Given the description of an element on the screen output the (x, y) to click on. 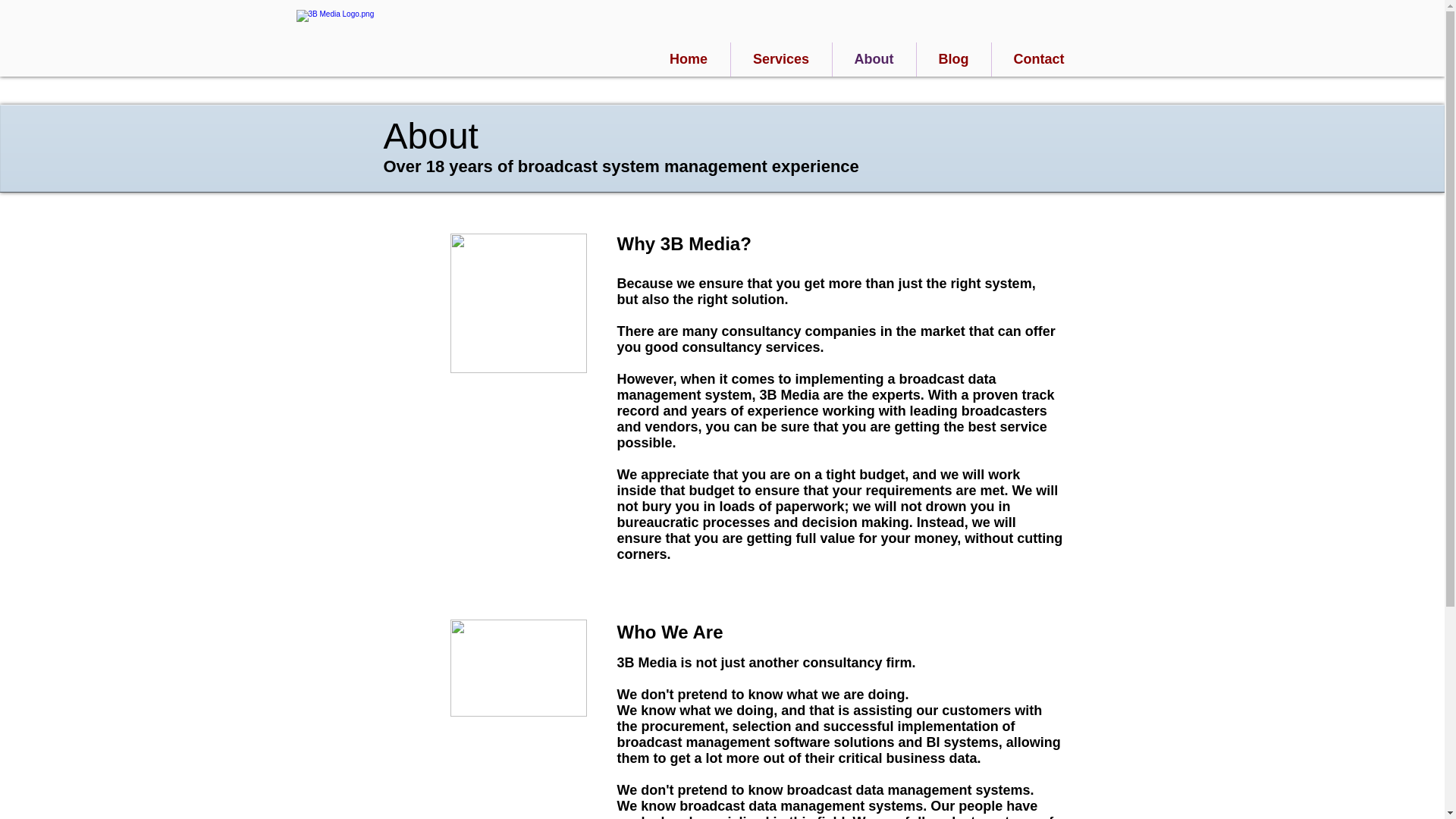
Business Card Element type: hover (518, 667)
Home Element type: text (688, 59)
About Element type: text (874, 59)
Blog Element type: text (953, 59)
Services Element type: text (781, 59)
Contact Element type: text (1038, 59)
